Given the description of an element on the screen output the (x, y) to click on. 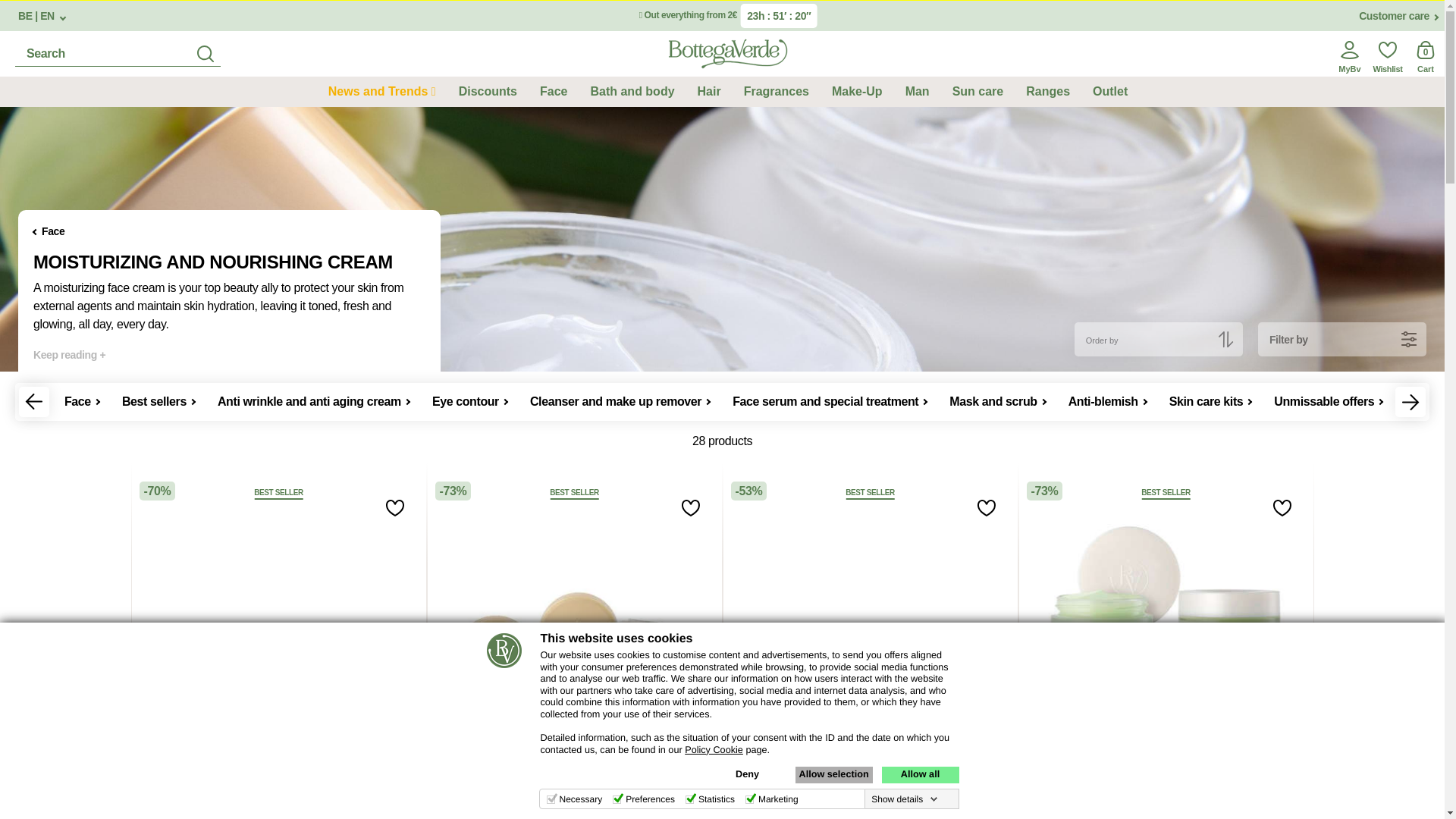
Show details (903, 799)
Allow all (919, 774)
Policy Cookie (713, 749)
Allow selection (833, 774)
Deny (746, 774)
